Given the description of an element on the screen output the (x, y) to click on. 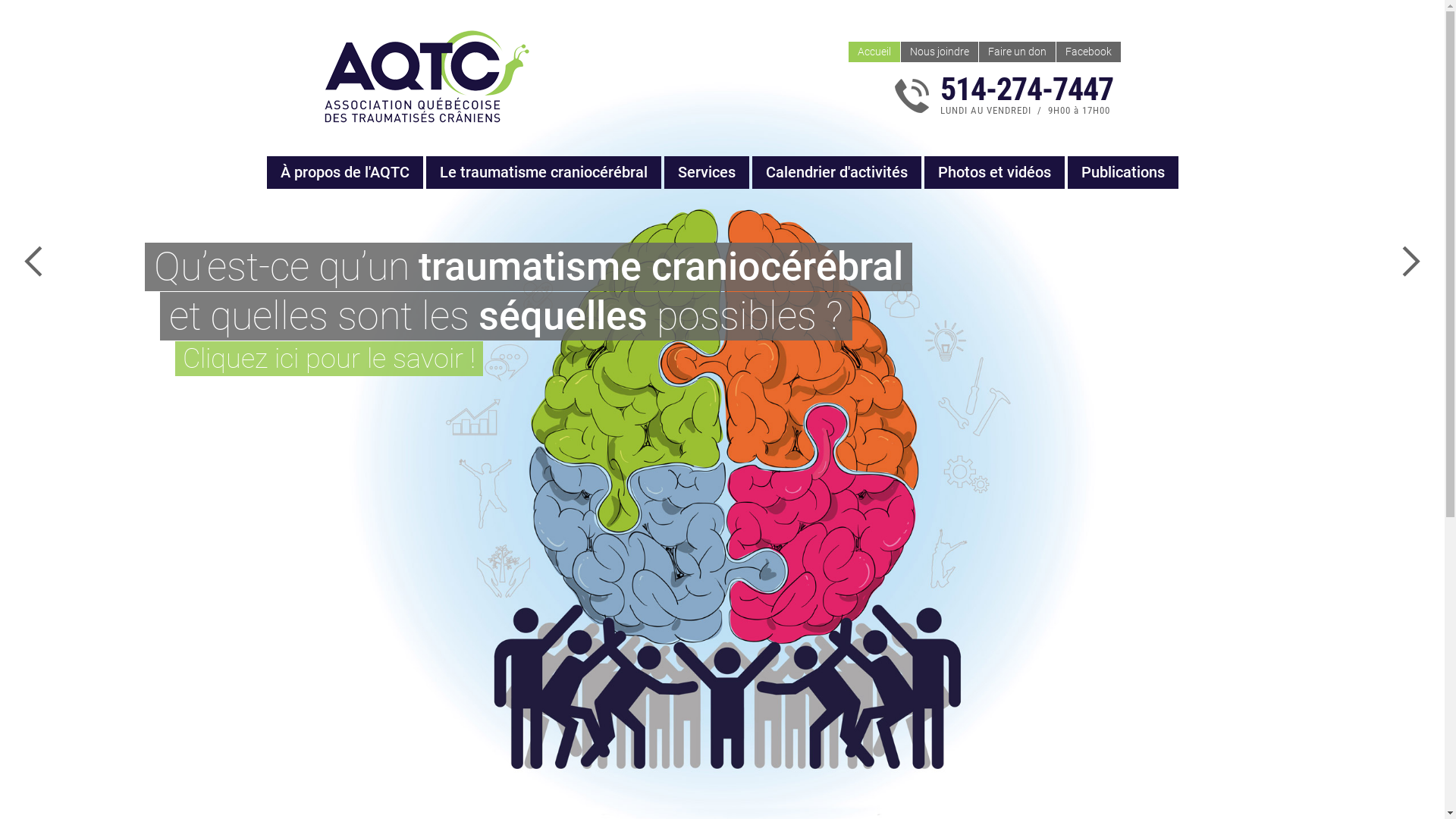
Accueil Element type: text (873, 51)
Publications Element type: text (1122, 172)
Services Element type: text (706, 172)
Nous joindre Element type: text (939, 51)
Faire un don Element type: text (1016, 51)
NEXT Element type: text (1410, 261)
Facebook Element type: text (1087, 51)
PREV Element type: text (33, 261)
